Given the description of an element on the screen output the (x, y) to click on. 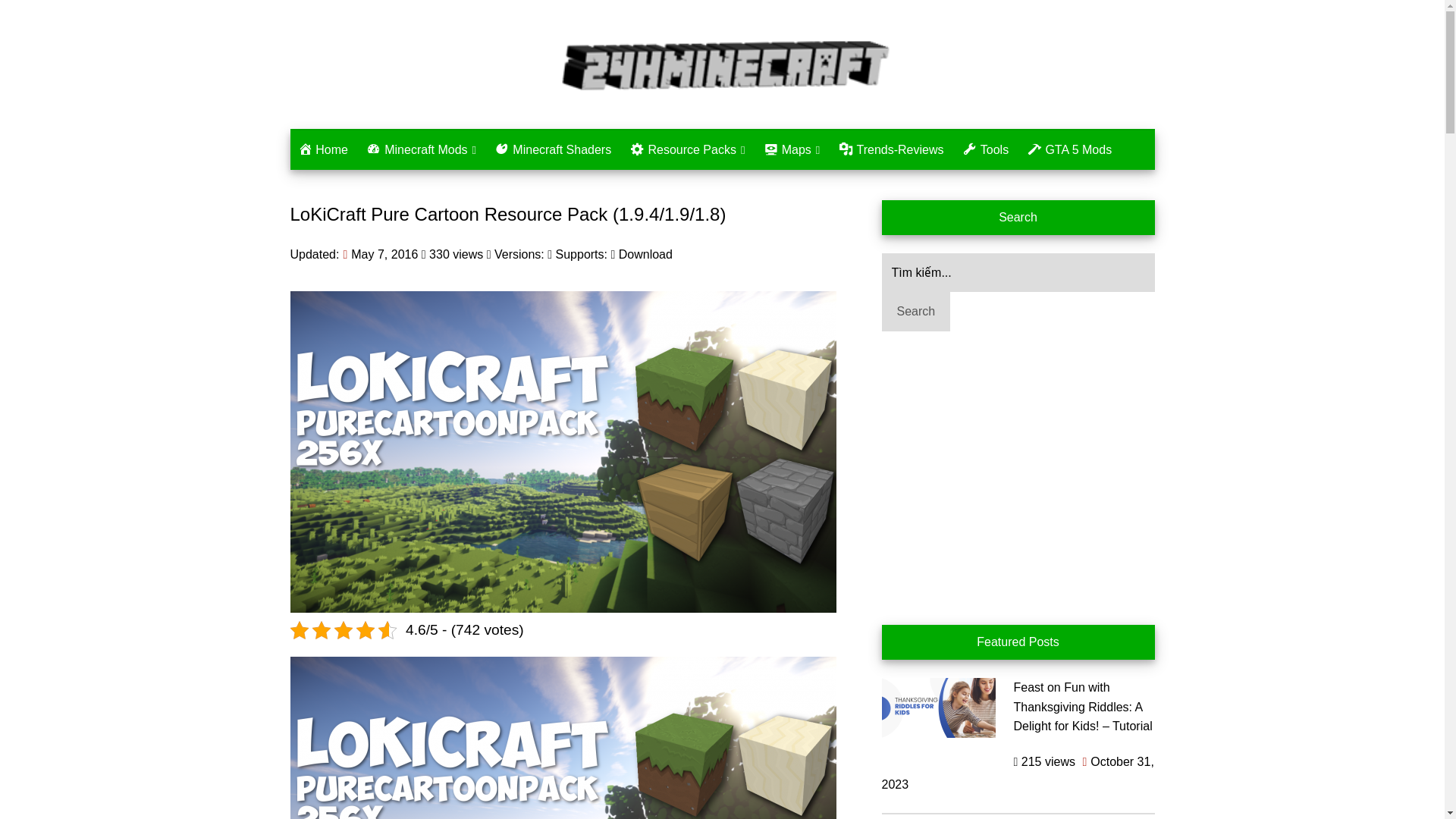
Home (322, 149)
Minecraft Shaders (553, 149)
Maps (791, 149)
Resource Packs (687, 149)
Resource Packs (687, 149)
Minecraft Mods (420, 149)
Home (322, 149)
Minecraft Shaders (553, 149)
Minecraft Mods (420, 149)
Trends-Reviews (891, 149)
Search (915, 311)
Search (915, 311)
